Given the description of an element on the screen output the (x, y) to click on. 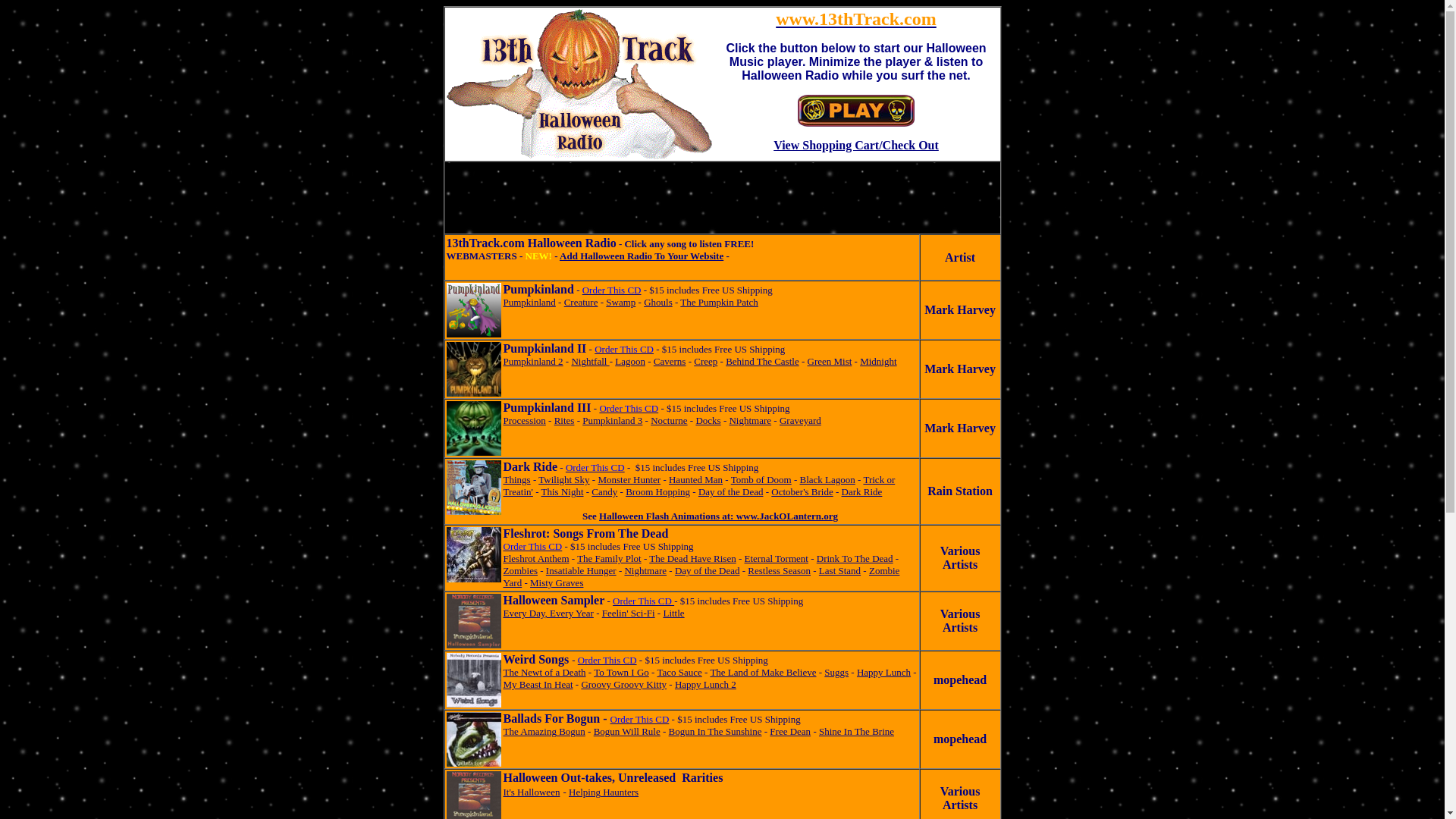
Behind The Castle Element type: text (762, 361)
Happy Lunch Element type: text (883, 671)
Pumpkinland 3 Element type: text (612, 420)
Advertisement Element type: hover (721, 197)
Bogun In The Sunshine Element type: text (715, 731)
Creep Element type: text (705, 361)
Drink To The Dead Element type: text (854, 558)
Happy Lunch 2 Element type: text (705, 684)
Feelin' Sci-Fi Element type: text (628, 612)
Pumpkinland Element type: text (529, 301)
The Amazing Bogun Element type: text (544, 731)
Nightfall Element type: text (589, 361)
Twilight Sky Element type: text (563, 479)
Last Stand Element type: text (839, 570)
Nocturne Element type: text (668, 420)
Swamp Element type: text (620, 301)
Eternal Torment Element type: text (776, 558)
Order This CD Element type: text (594, 467)
The Newt of a Death Element type: text (544, 671)
Helping Haunters Element type: text (603, 791)
Insatiable Hunger Element type: text (581, 570)
Suggs Element type: text (836, 671)
Green Mist Element type: text (828, 361)
Day of the Dead Element type: text (730, 491)
The Family Plot Element type: text (609, 558)
Candy Element type: text (604, 491)
Order This CD Element type: text (639, 718)
Order This CD Element type: text (607, 659)
It's Halloween Element type: text (531, 790)
Order This CD Element type: text (643, 600)
Black Lagoon Element type: text (827, 479)
www.13thTrack.com Element type: text (855, 18)
Haunted Man Element type: text (695, 479)
Halloween Flash Animations at: www.JackOLantern.org Element type: text (718, 515)
The Dead Have Risen Element type: text (692, 558)
This Night Element type: text (562, 491)
Tomb of Doom Element type: text (761, 479)
Caverns Element type: text (669, 361)
Taco Sauce Element type: text (678, 671)
Order This CD Element type: text (623, 348)
Restless Season Element type: text (778, 570)
Shine In The Brine Element type: text (856, 731)
The Land of Make Believe Element type: text (762, 671)
Fleshrot Anthem Element type: text (536, 558)
Rites Element type: text (564, 420)
Things Element type: text (516, 479)
Every Day, Every Year Element type: text (548, 612)
Order This CD Element type: text (611, 289)
Zombie Yard Element type: text (701, 576)
Monster Hunter Element type: text (628, 479)
Docks Element type: text (707, 420)
Broom Hopping Element type: text (657, 491)
Procession Element type: text (524, 420)
October's Bride Element type: text (801, 491)
To Town I Go Element type: text (621, 671)
Order This CD Element type: text (628, 408)
Trick or Treatin' Element type: text (699, 485)
Day of the Dead Element type: text (707, 570)
Add Halloween Radio To Your Website Element type: text (641, 255)
Ghouls Element type: text (657, 301)
Graveyard Element type: text (800, 420)
Free Dean Element type: text (789, 731)
Order This CD Element type: text (532, 546)
Zombies Element type: text (520, 570)
Lagoon Element type: text (630, 361)
Groovy Groovy Kitty Element type: text (623, 684)
Dark Ride Element type: text (861, 491)
Creature Element type: text (581, 301)
The Pumpkin Patch Element type: text (719, 301)
Pumpkinland 2 Element type: text (533, 361)
My Beast In Heat Element type: text (538, 684)
Bogun Will Rule Element type: text (626, 731)
Nightmare Element type: text (749, 420)
Little Element type: text (673, 612)
Misty Graves Element type: text (556, 582)
View Shopping Cart/Check Out Element type: text (855, 144)
Midnight Element type: text (877, 361)
Nightmare Element type: text (645, 570)
